Given the description of an element on the screen output the (x, y) to click on. 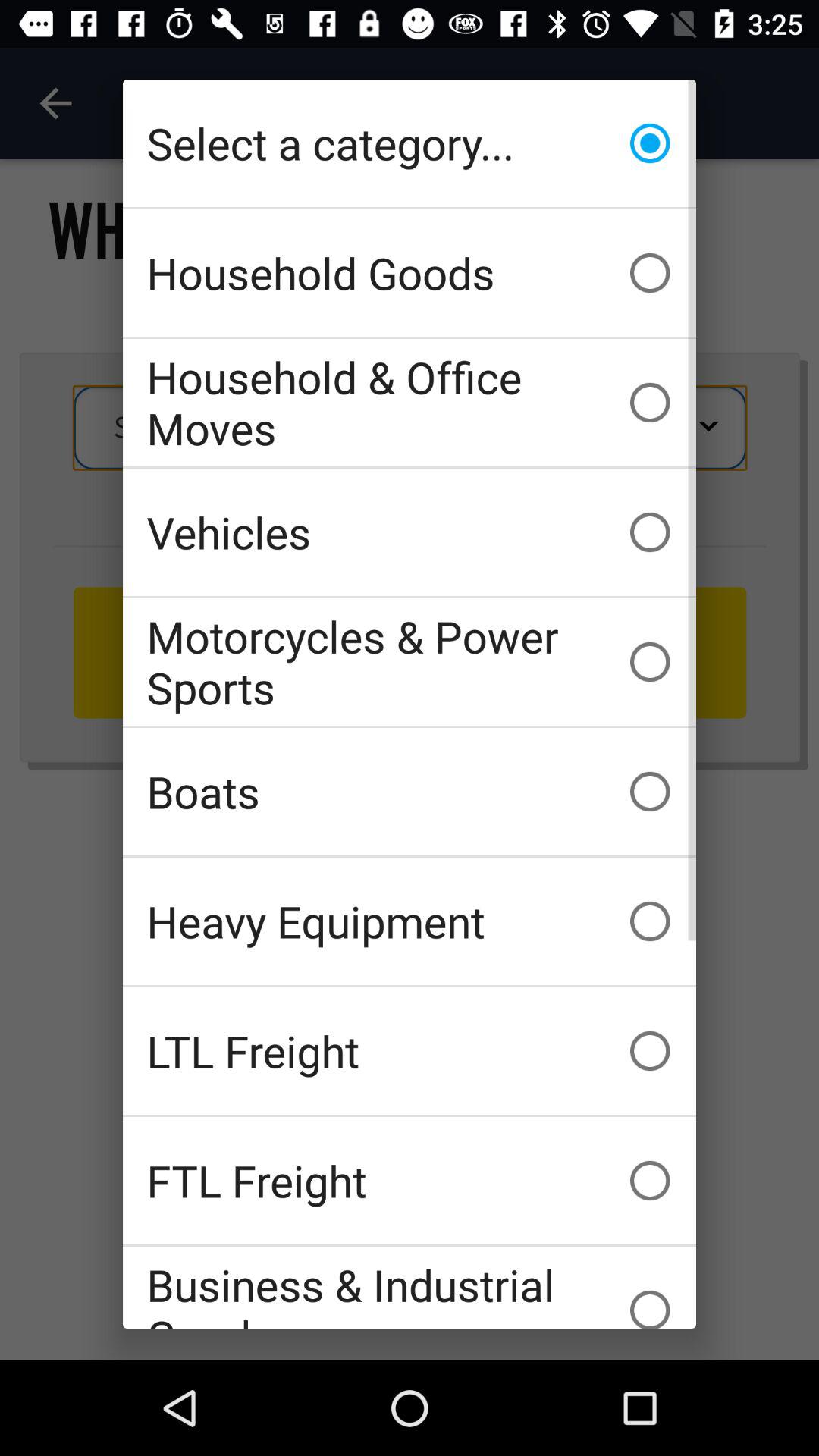
scroll until business & industrial goods item (409, 1287)
